Given the description of an element on the screen output the (x, y) to click on. 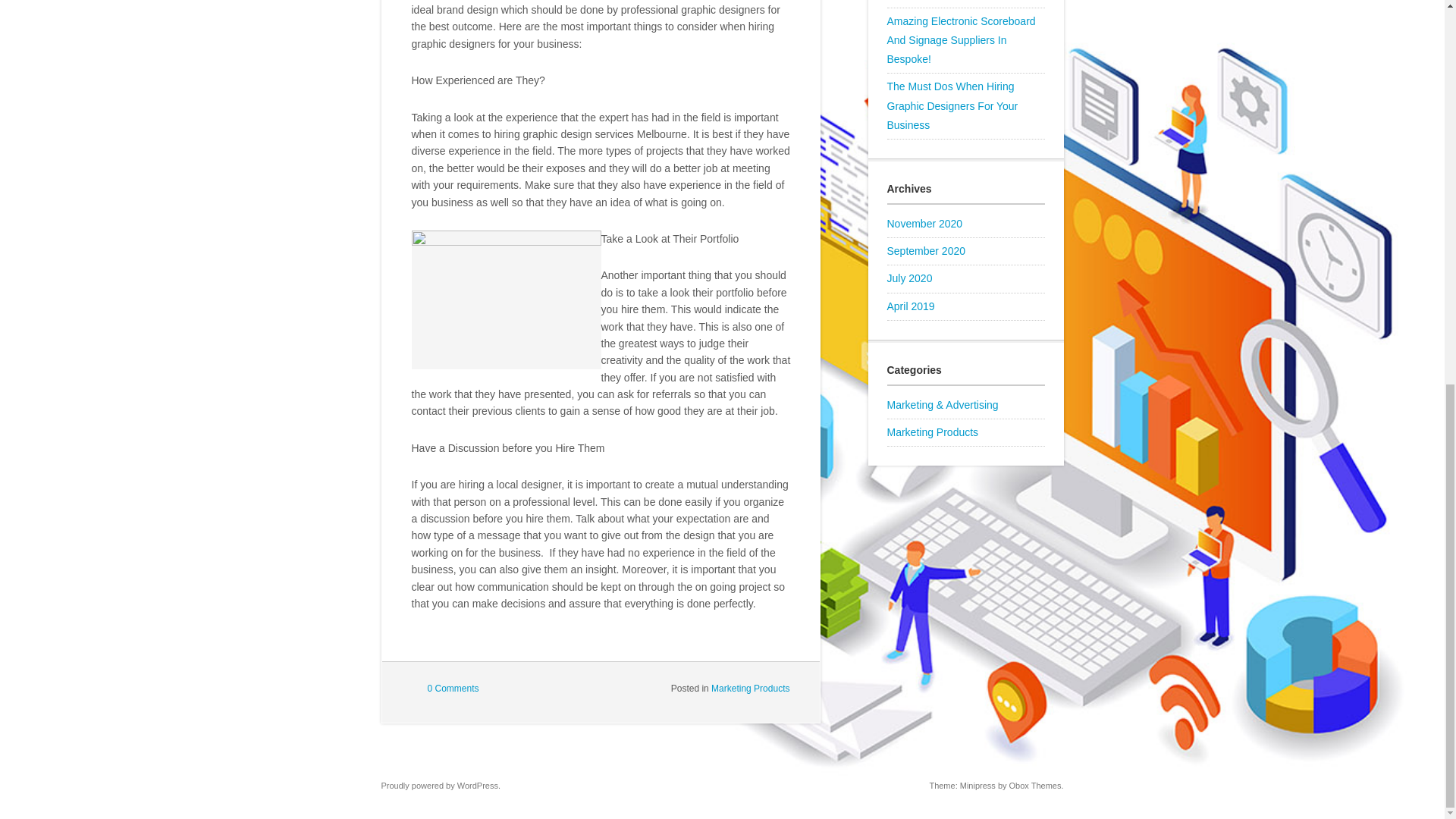
September 2020 (926, 250)
July 2020 (909, 277)
The Must Dos When Hiring Graphic Designers For Your Business (951, 105)
Marketing Products (932, 431)
April 2019 (910, 306)
Marketing Products (750, 688)
November 2020 (924, 223)
0 Comments (453, 688)
graphics tablet.jpg (504, 299)
